Given the description of an element on the screen output the (x, y) to click on. 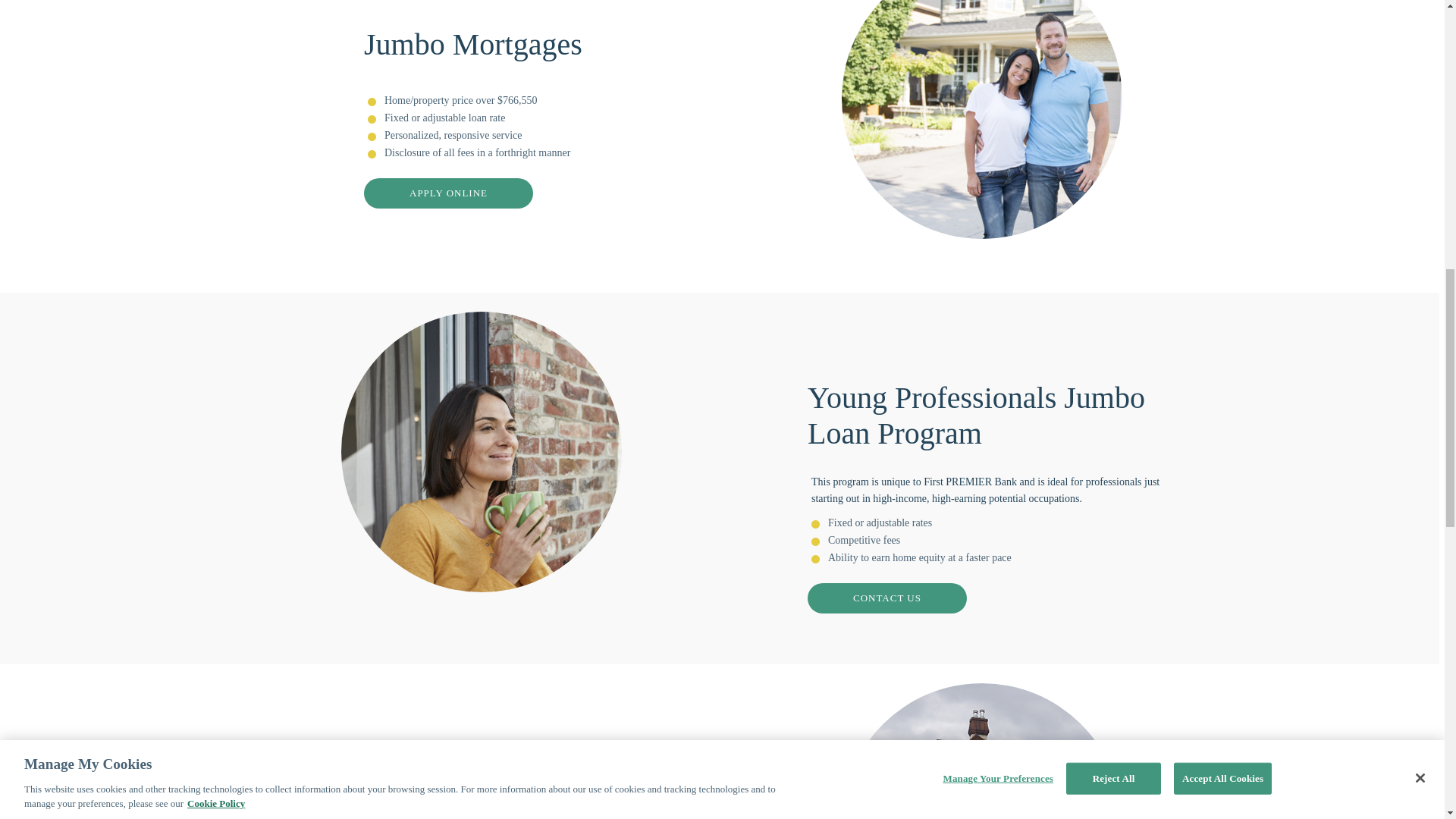
Jumbo Mortgages (981, 119)
What to Know About Jumbo Loans (981, 751)
Young Professionals Jumbo Loan Program (480, 452)
